Given the description of an element on the screen output the (x, y) to click on. 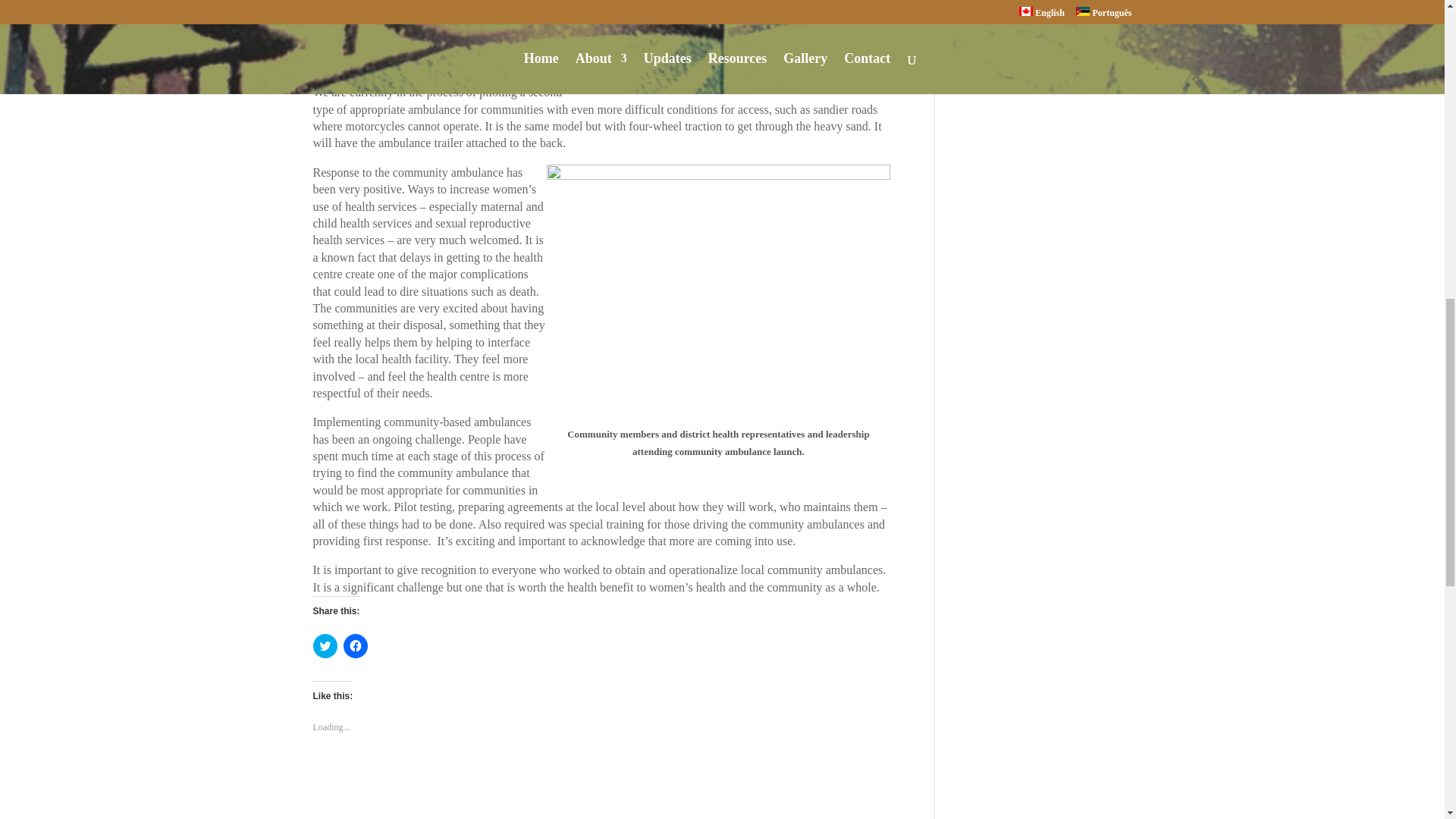
Subscribe (999, 67)
Click to share on Facebook (354, 645)
Click to share on Twitter (324, 645)
